Given the description of an element on the screen output the (x, y) to click on. 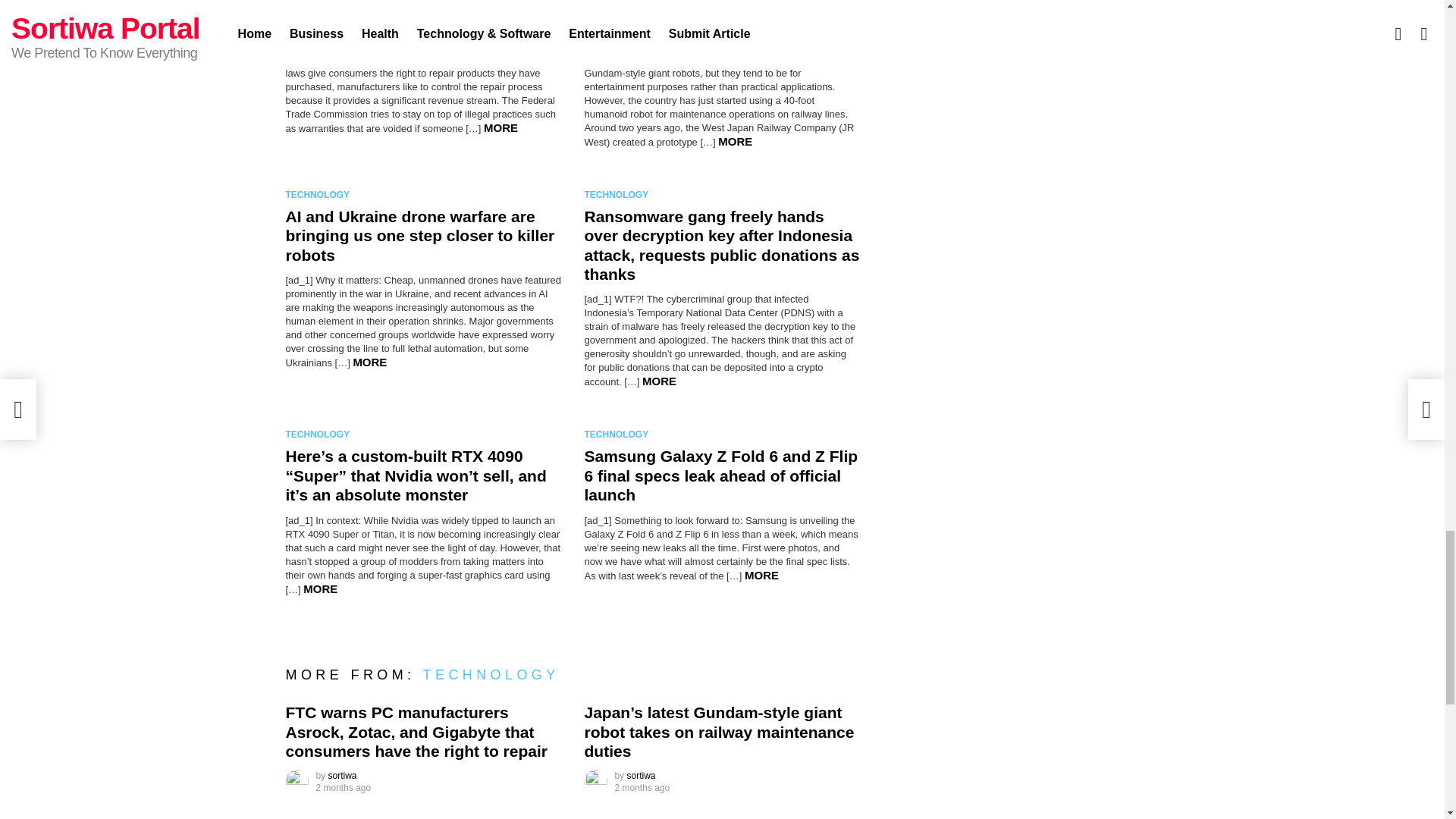
MORE (500, 127)
July 4, 2024, 10:45 pm (343, 787)
Posts by sortiwa (641, 775)
July 4, 2024, 10:14 pm (641, 787)
TECHNOLOGY (320, 194)
Posts by sortiwa (342, 775)
MORE (734, 141)
